Given the description of an element on the screen output the (x, y) to click on. 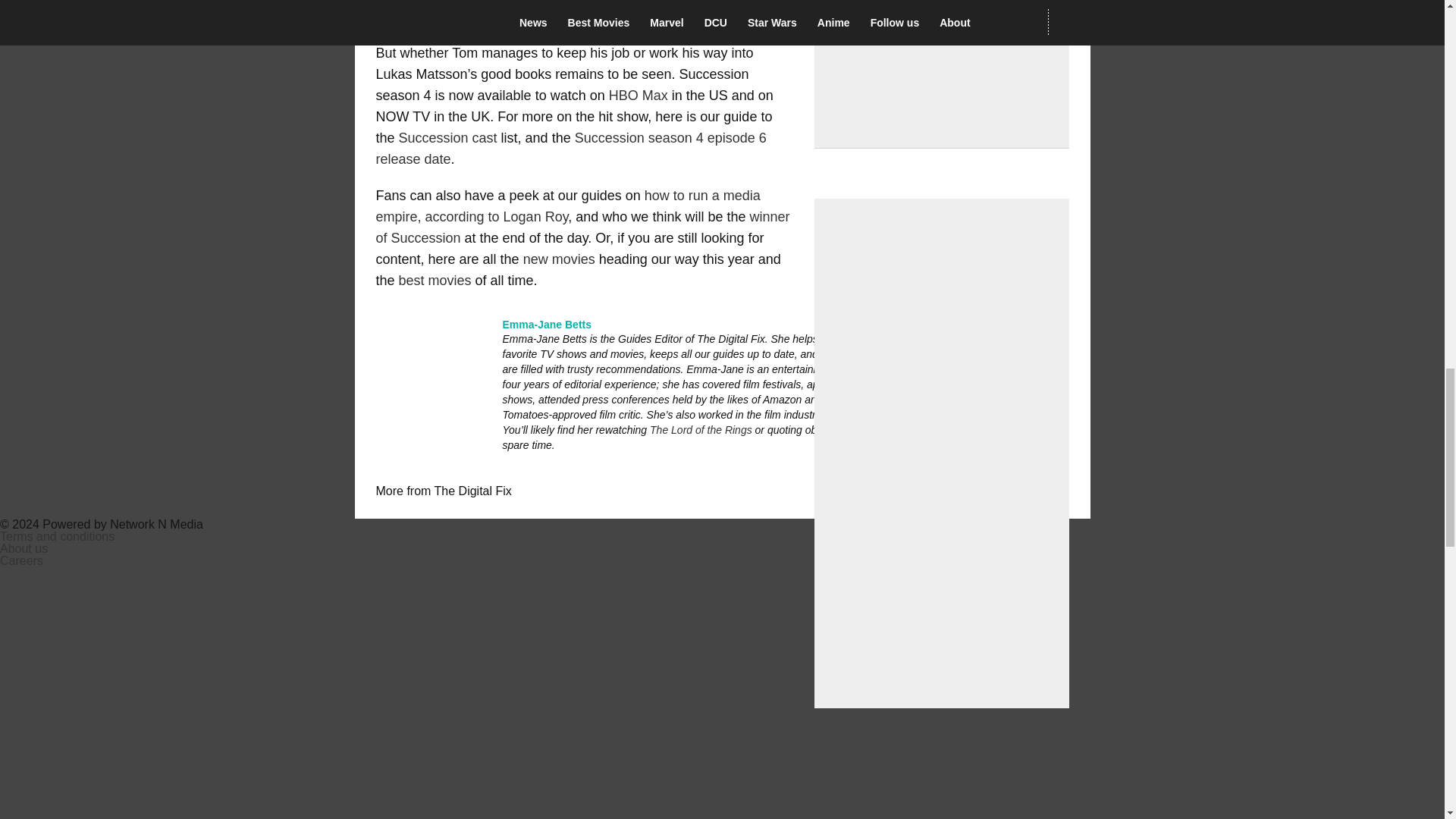
HBO Max (638, 95)
